Given the description of an element on the screen output the (x, y) to click on. 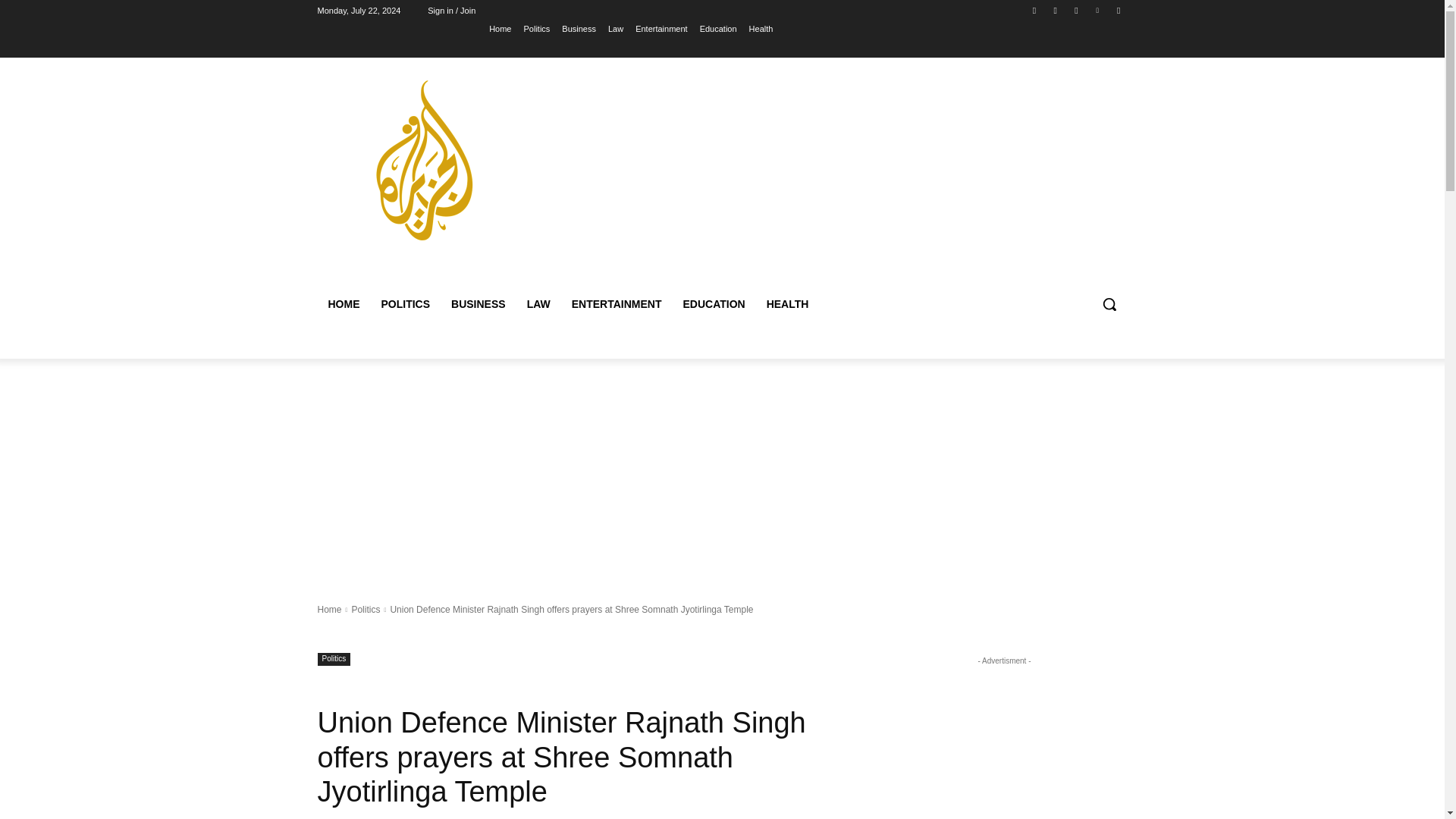
ENTERTAINMENT (616, 303)
BUSINESS (478, 303)
Home (500, 28)
HEALTH (787, 303)
Entertainment (660, 28)
Vimeo (1097, 9)
Politics (333, 658)
Education (718, 28)
Instagram (1055, 9)
Twitter (1075, 9)
HOME (343, 303)
EDUCATION (713, 303)
Health (761, 28)
Business (578, 28)
Politics (536, 28)
